Given the description of an element on the screen output the (x, y) to click on. 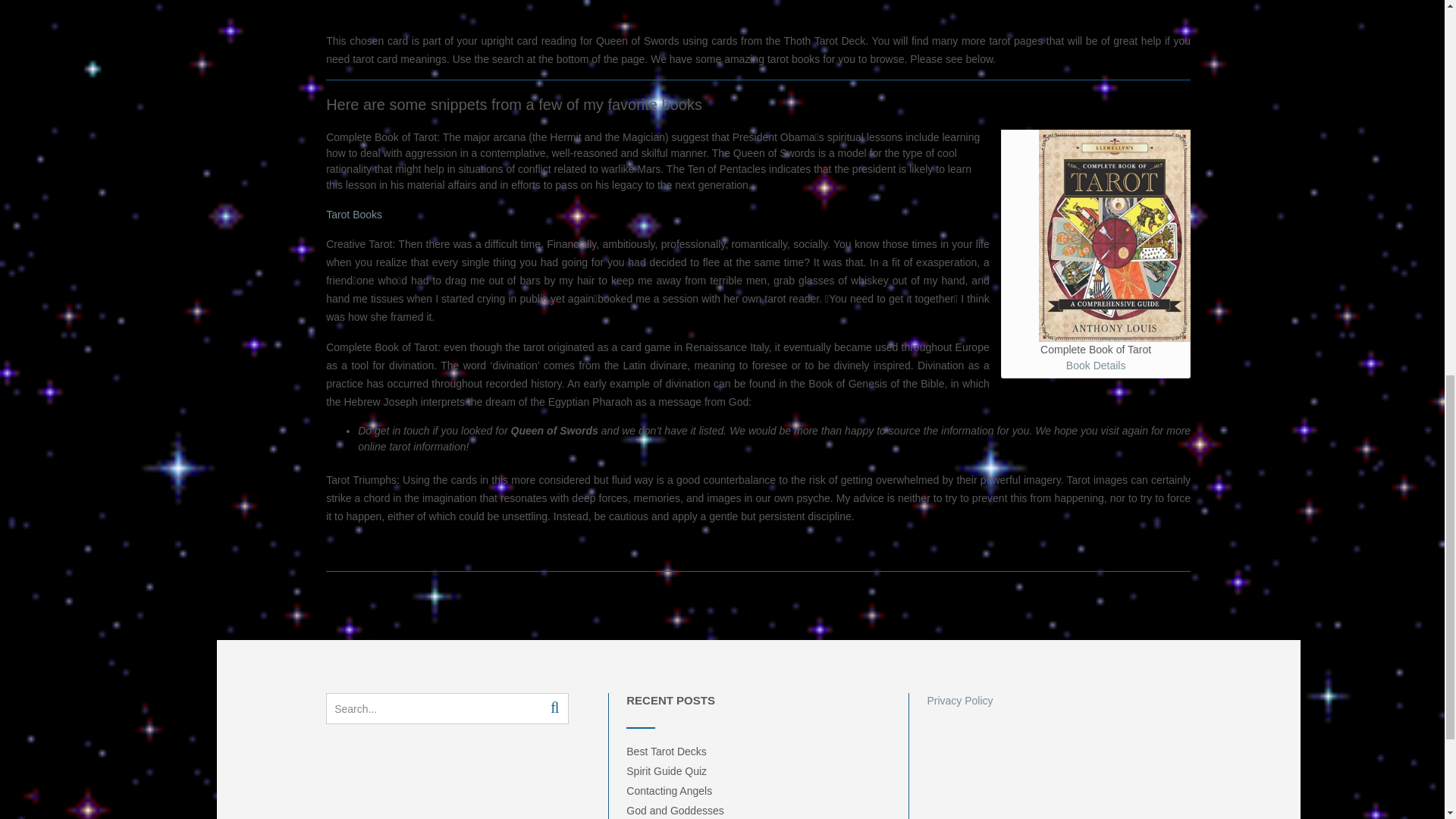
Search for: (430, 707)
